Given the description of an element on the screen output the (x, y) to click on. 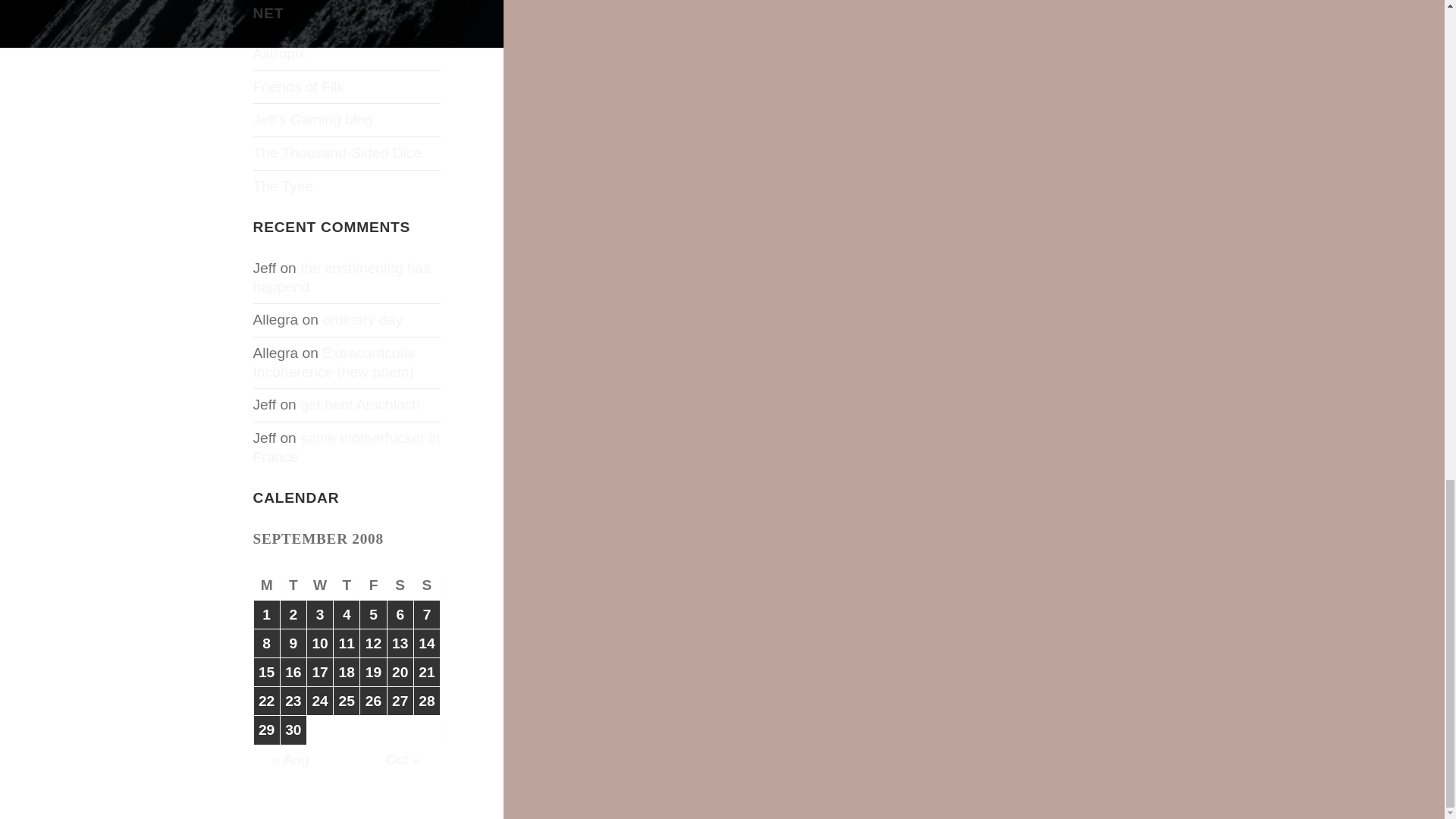
Thursday (346, 584)
4 (346, 614)
The Tyee (283, 186)
15 (266, 672)
the enshinening has happend (341, 277)
Friday (373, 584)
11 (346, 643)
10 (320, 643)
get bent Arschloch (359, 404)
9 (293, 643)
8 (266, 643)
6 (400, 614)
Sunday (427, 584)
Jeff's Gaming blog (312, 119)
7 (426, 614)
